Given the description of an element on the screen output the (x, y) to click on. 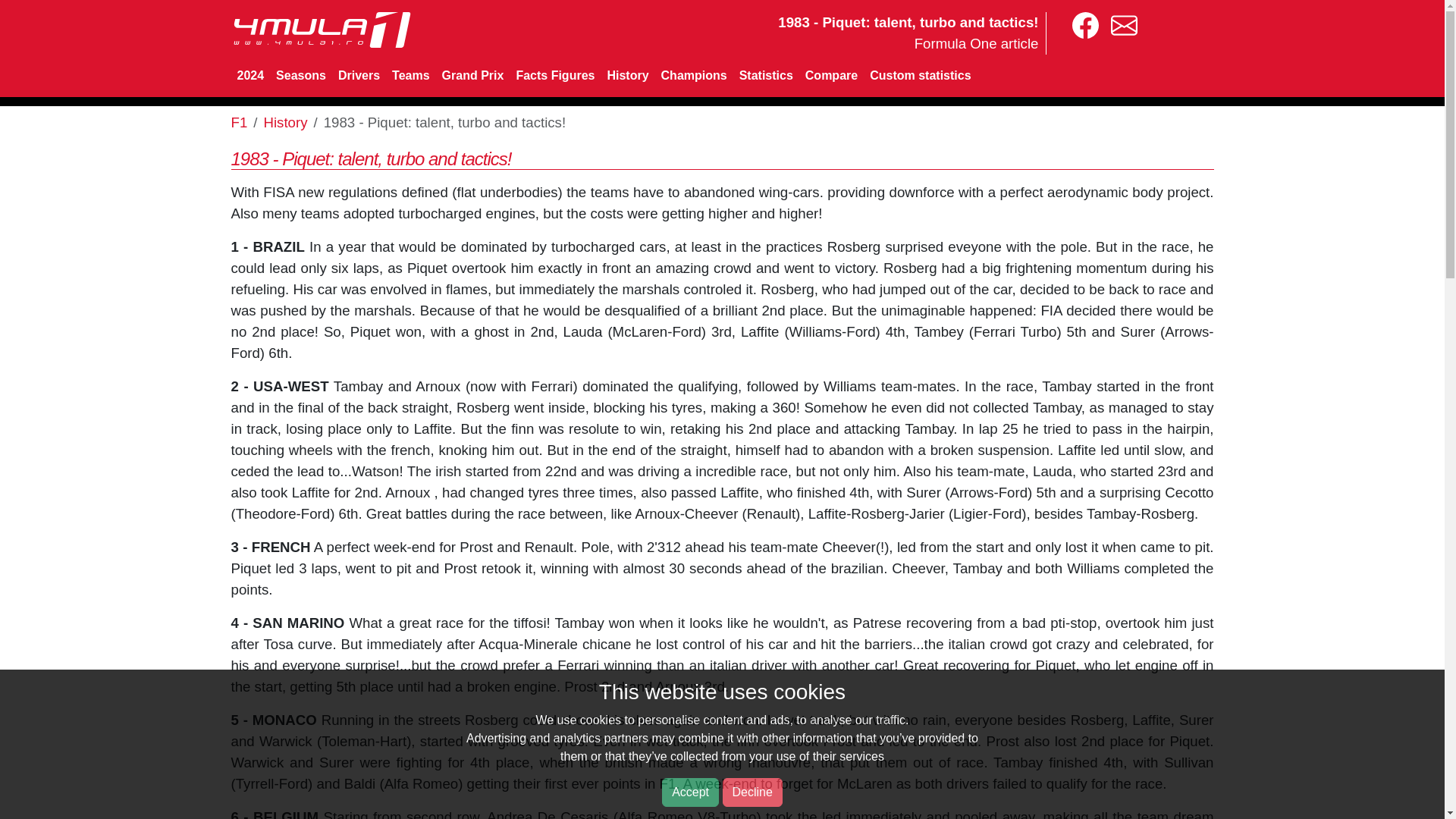
Accept (690, 792)
History (626, 75)
Champions (694, 75)
Grand Prix (473, 75)
Seasons (300, 75)
Custom statistics (919, 75)
Facts Figures (554, 75)
Statistics (766, 75)
Drivers (358, 75)
Decline (751, 792)
Compare (831, 75)
Teams (410, 75)
History (285, 122)
F1 (238, 122)
2024 (249, 75)
